Given the description of an element on the screen output the (x, y) to click on. 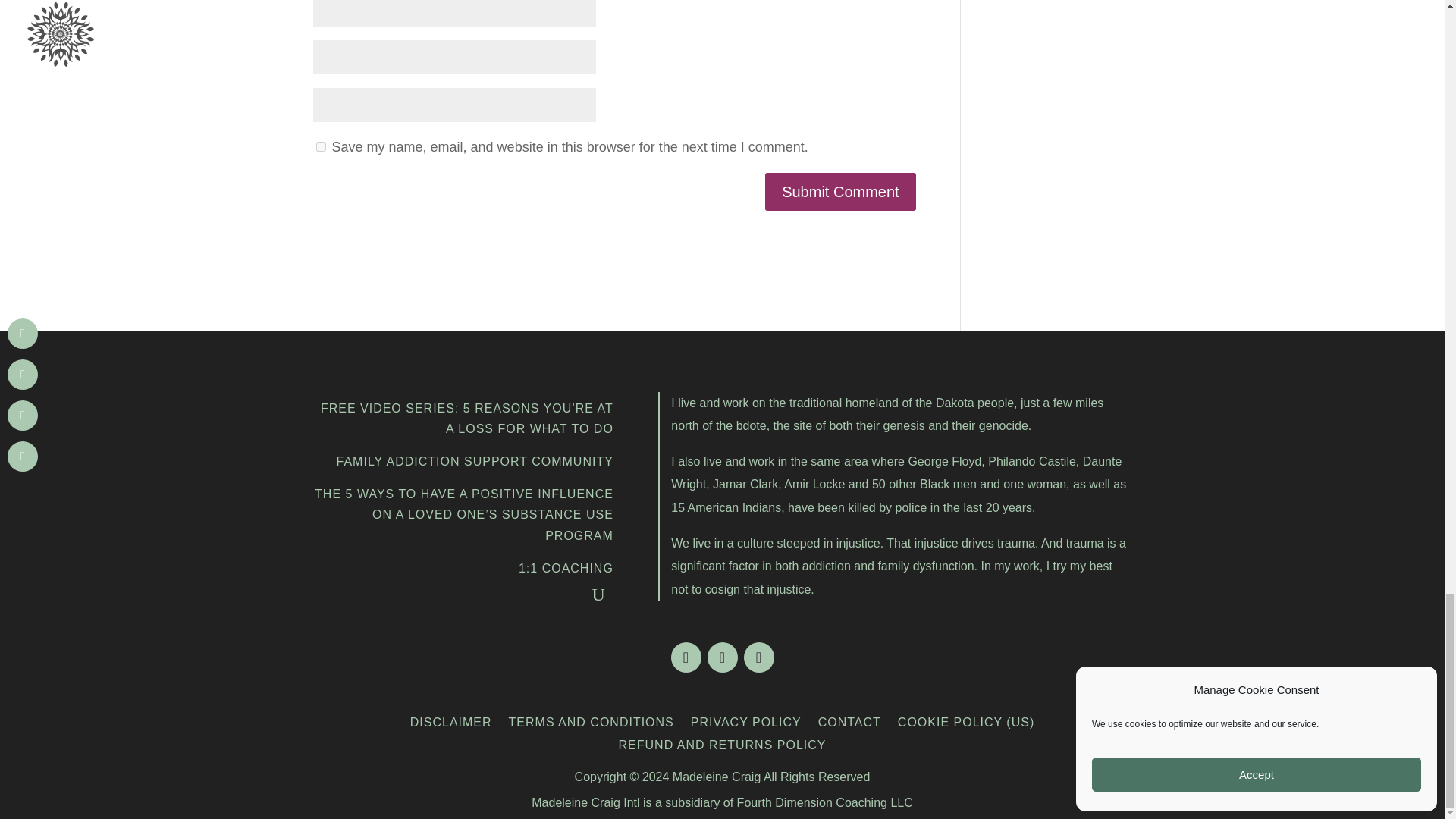
Follow on Instagram (684, 657)
Follow on LinkedIn (757, 657)
Submit Comment (840, 191)
yes (319, 146)
Follow on Facebook (721, 657)
